Given the description of an element on the screen output the (x, y) to click on. 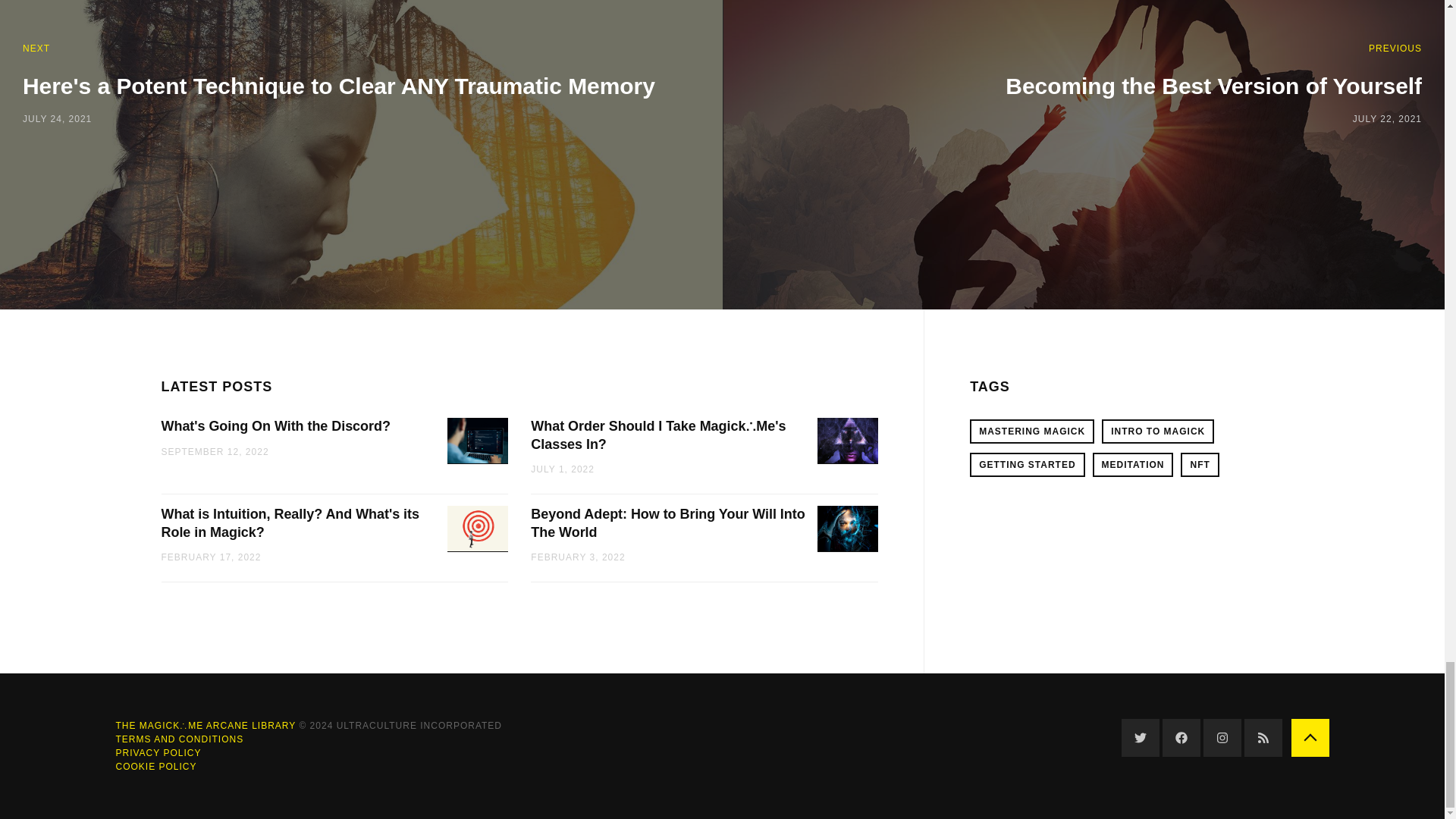
MASTERING MAGICK (1031, 431)
Terms and Conditions (179, 739)
What's Going On With the Discord? (275, 426)
Beyond Adept: How to Bring Your Will Into The World (668, 522)
INTRO TO MAGICK (1158, 431)
What is Intuition, Really? And What's its Role in Magick? (289, 522)
Cookie Policy (155, 767)
Privacy Policy (157, 753)
